Given the description of an element on the screen output the (x, y) to click on. 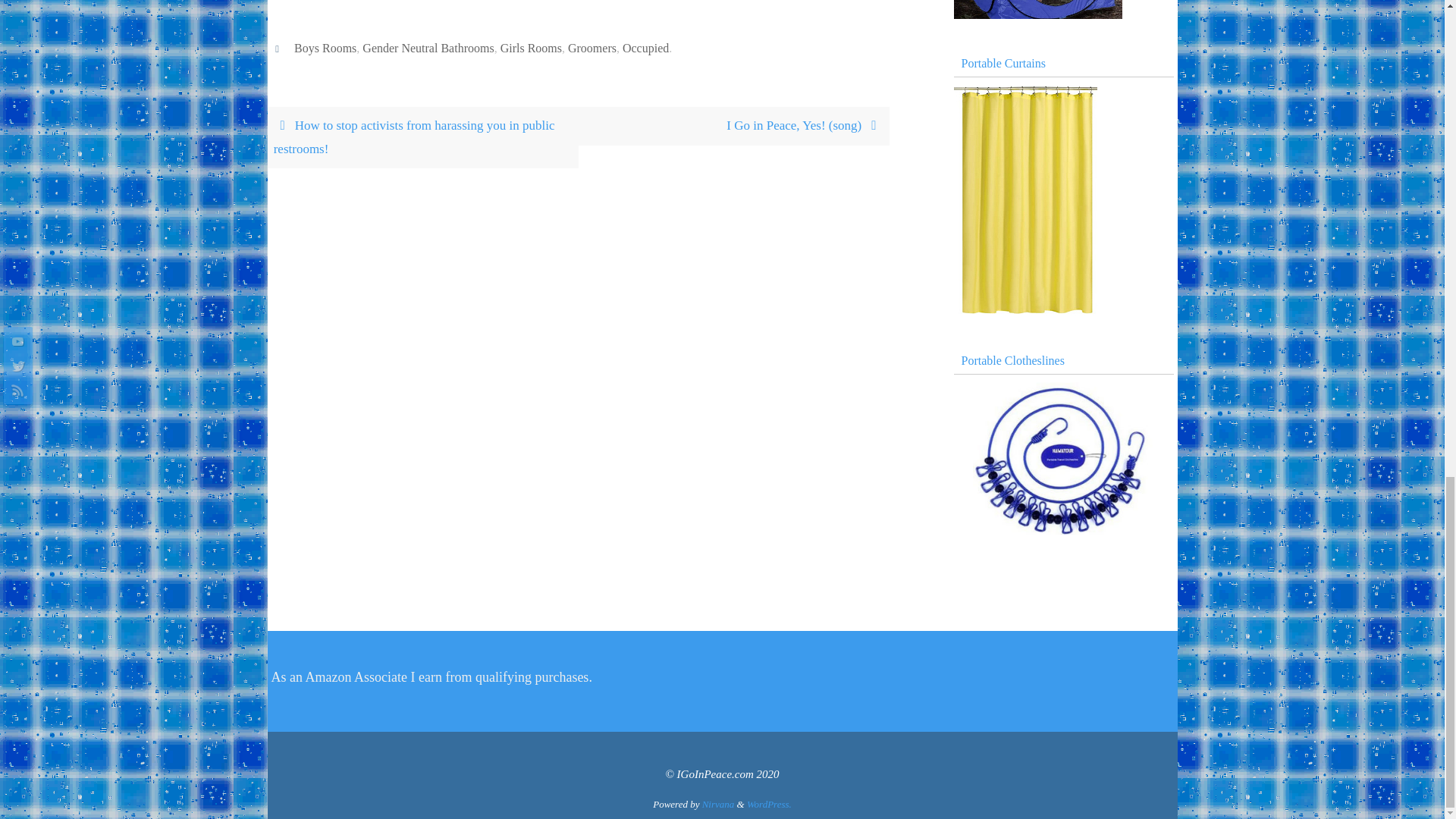
Nirvana Theme by Cryout Creations (718, 803)
Boys Rooms (325, 48)
Gender Neutral Bathrooms (427, 48)
Occupied (645, 48)
Girls Rooms (531, 48)
Tagged (278, 47)
WordPress. (769, 803)
Semantic Personal Publishing Platform (769, 803)
Groomers (591, 48)
Nirvana (718, 803)
